Given the description of an element on the screen output the (x, y) to click on. 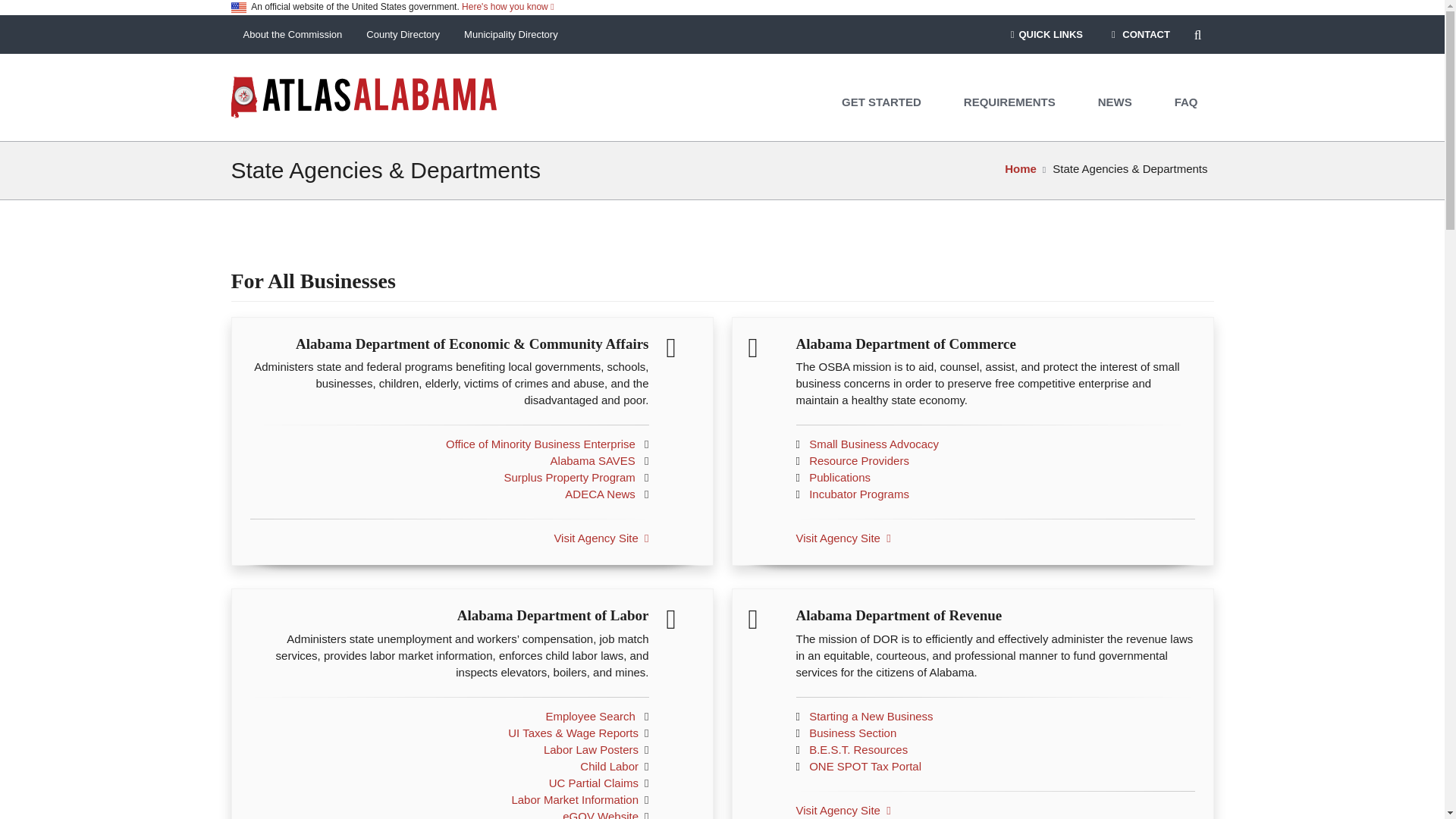
Search (1198, 34)
Incubator Programs (858, 493)
Home (1020, 168)
Child Labor (609, 766)
Alabama SAVES (592, 460)
Resource Providers (858, 460)
SEARCH (1198, 34)
Requirements (1010, 102)
Here's how you know (507, 6)
Atlas Alabama (363, 96)
Small Business Advocacy (874, 443)
County Directory (402, 34)
Municipality Directory (510, 34)
ADECA News (599, 493)
News (1115, 102)
